Given the description of an element on the screen output the (x, y) to click on. 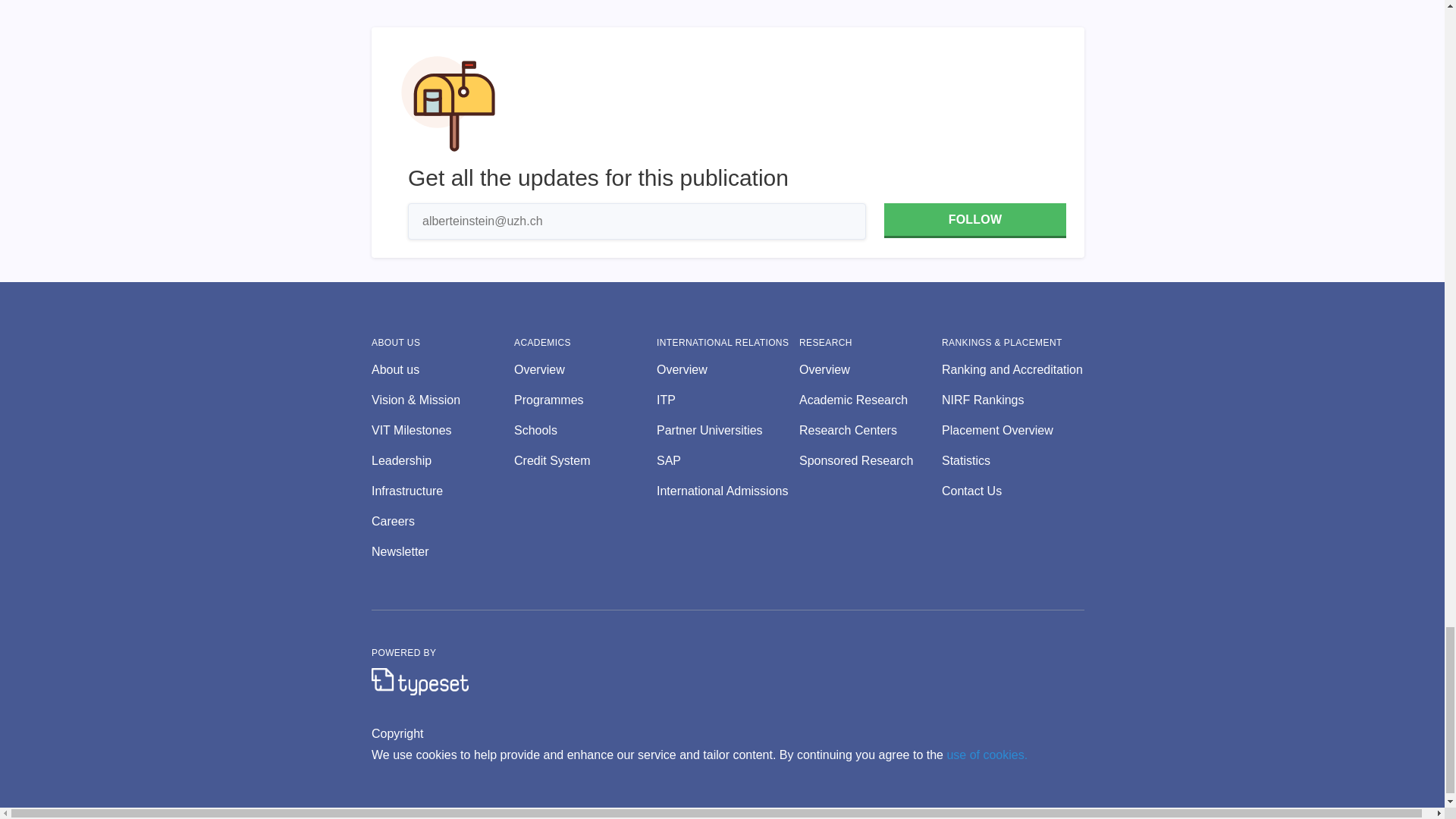
Logo of Typeset (419, 681)
Subscribe form hero illustration (448, 103)
